Given the description of an element on the screen output the (x, y) to click on. 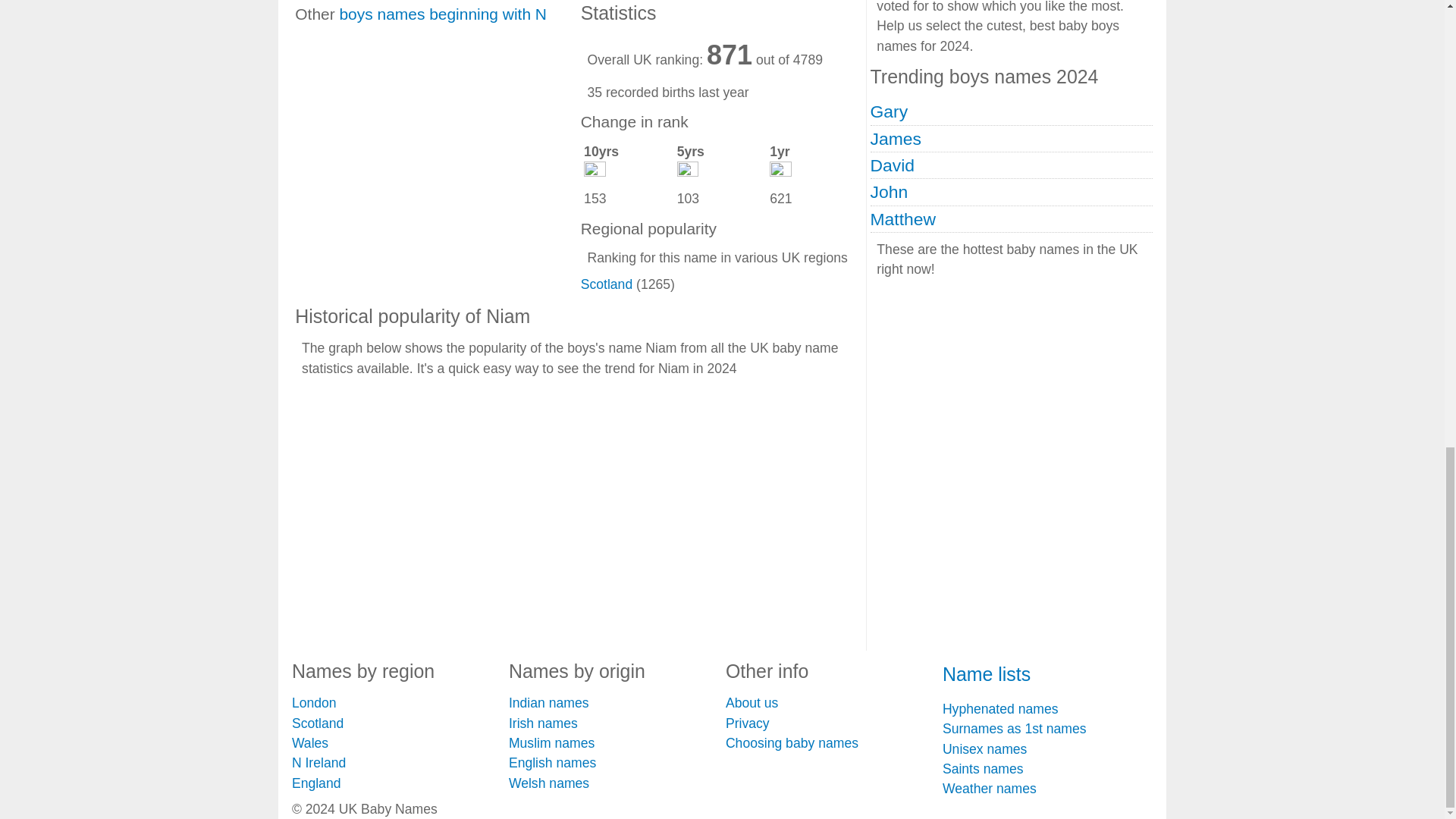
Wales (310, 743)
Matthew (903, 219)
English names (551, 762)
Choosing baby names (792, 743)
Scotland (605, 283)
David (892, 165)
James (895, 138)
England (316, 783)
London (314, 702)
Irish names (543, 723)
